Given the description of an element on the screen output the (x, y) to click on. 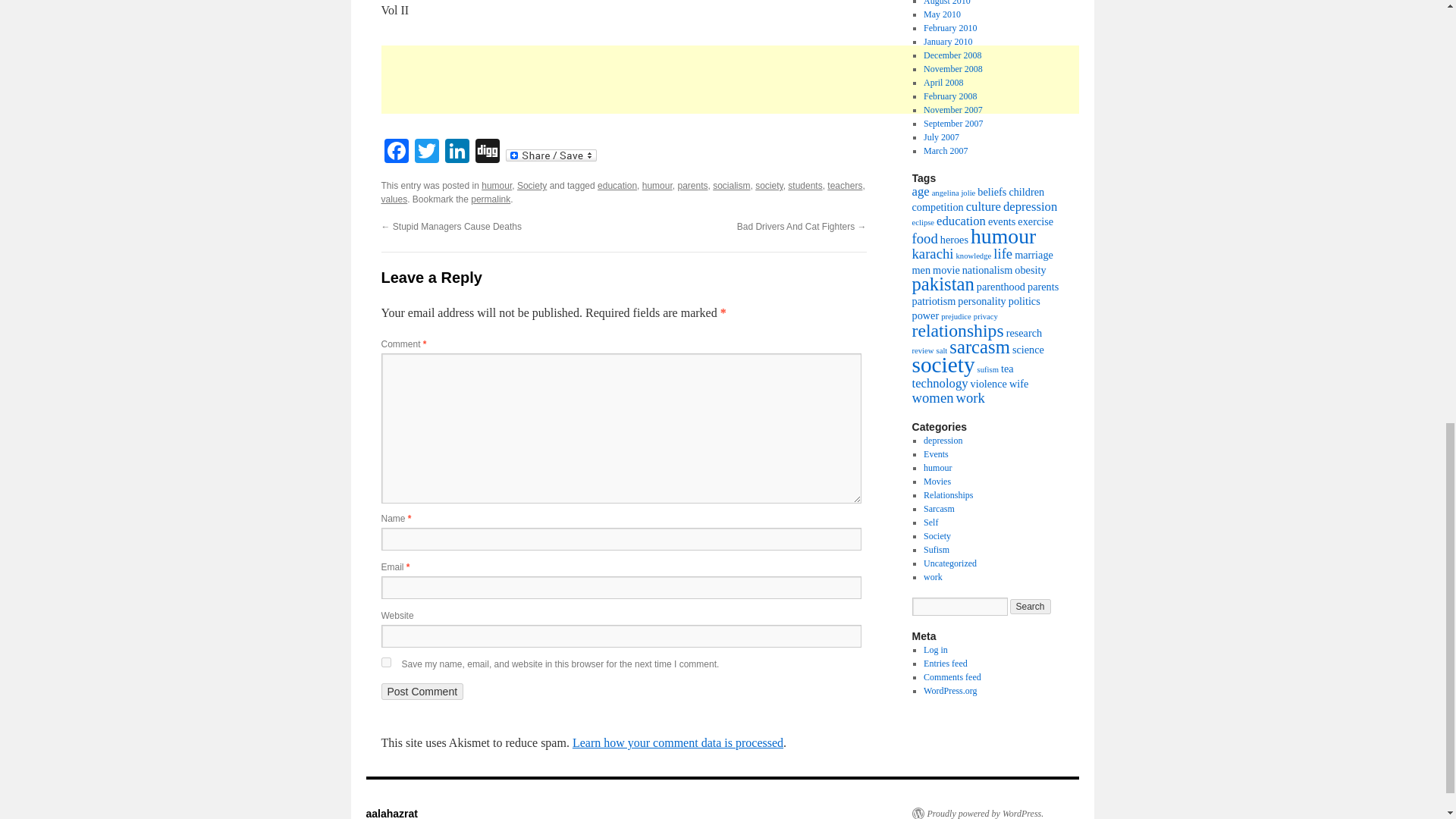
students (804, 185)
education (616, 185)
Twitter (425, 152)
Post Comment (421, 691)
Society (531, 185)
Post Comment (421, 691)
Learn how your comment data is processed (677, 742)
Twitter (425, 152)
socialism (731, 185)
Facebook (395, 152)
